Given the description of an element on the screen output the (x, y) to click on. 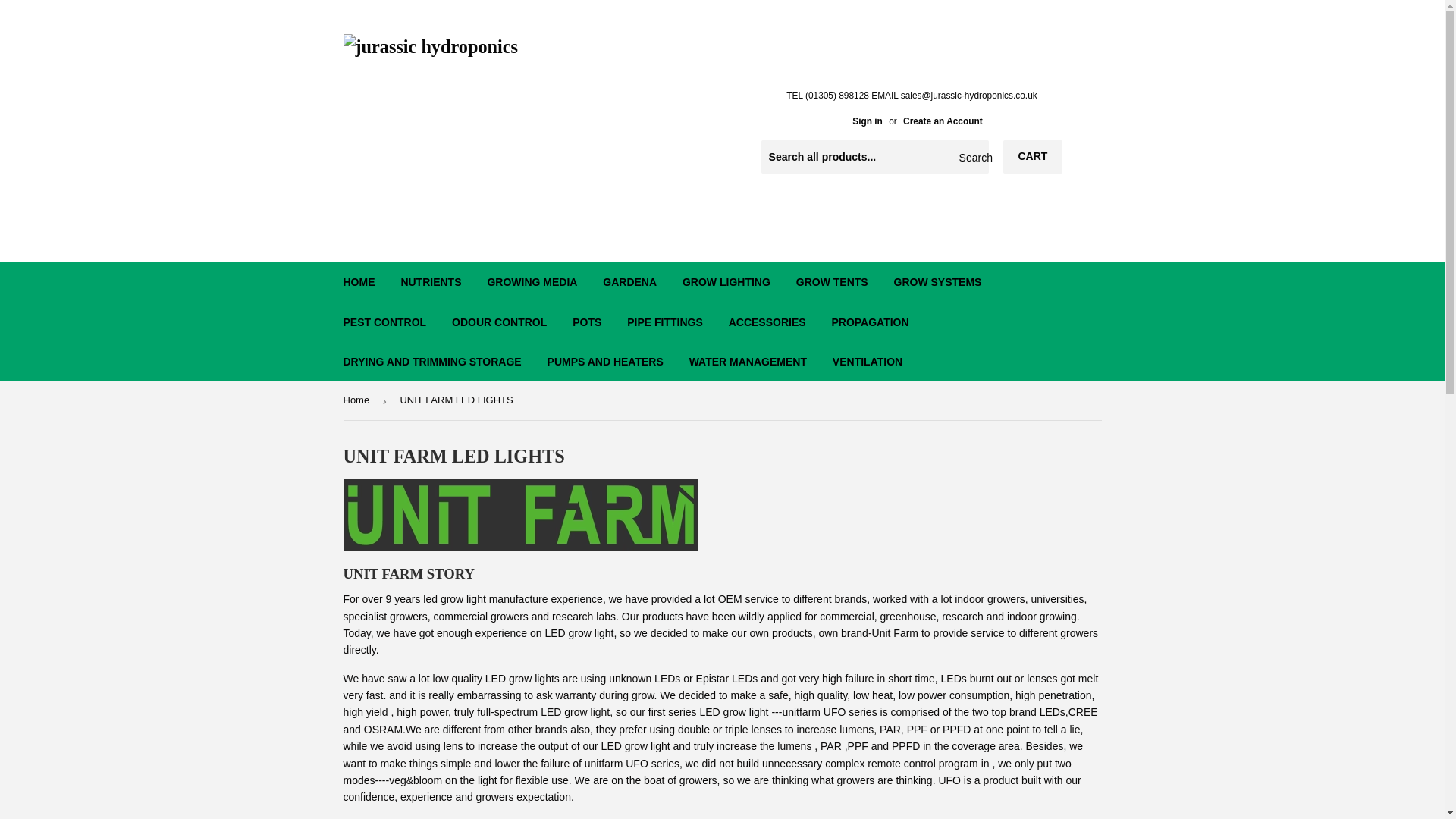
Search (971, 157)
Sign in (866, 121)
Create an Account (942, 121)
CART (1032, 156)
